Given the description of an element on the screen output the (x, y) to click on. 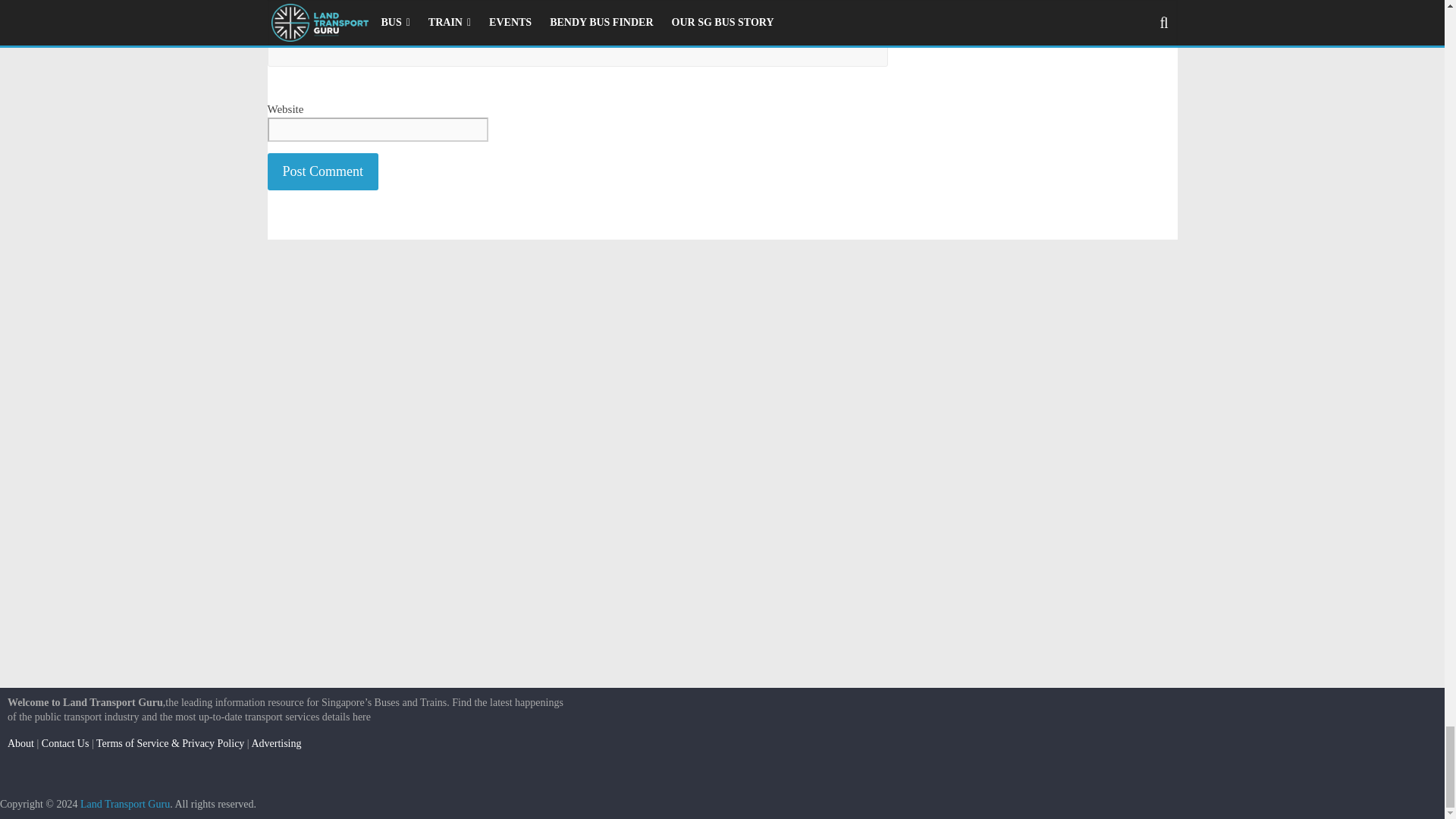
Post Comment (322, 171)
Land Transport Guru (125, 803)
